Given the description of an element on the screen output the (x, y) to click on. 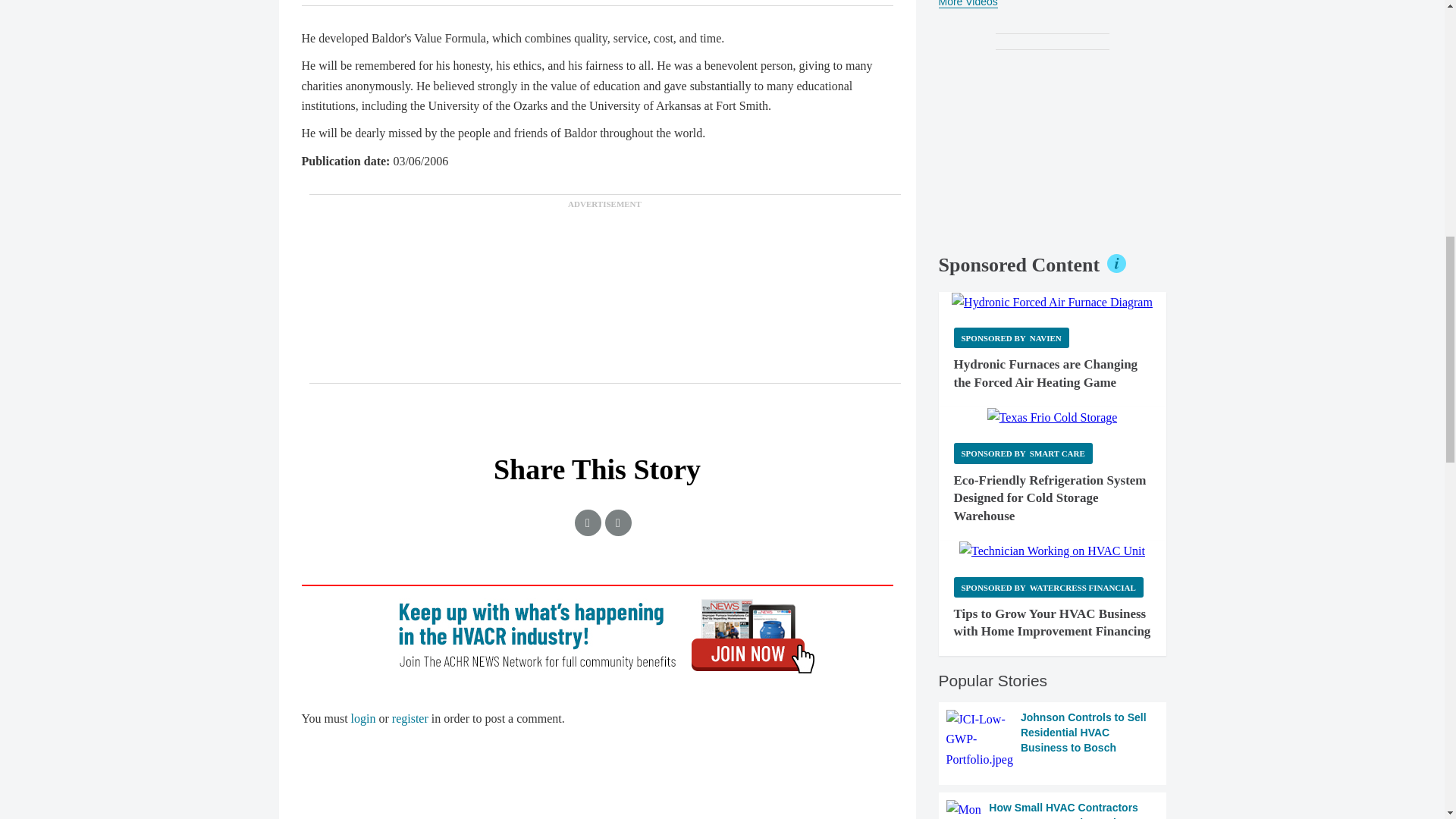
Texas Frio Cold Storage (1052, 417)
Hydronic Forced Air Furnace Diagram (1052, 302)
Sponsored by Watercress Financial (1047, 586)
Technician Working on HVAC Unit (1051, 551)
Johnson Controls to Sell Residential HVAC Business to Bosch (1052, 739)
Sponsored by Navien (1010, 337)
Sponsored by Smart Care (1023, 453)
